Given the description of an element on the screen output the (x, y) to click on. 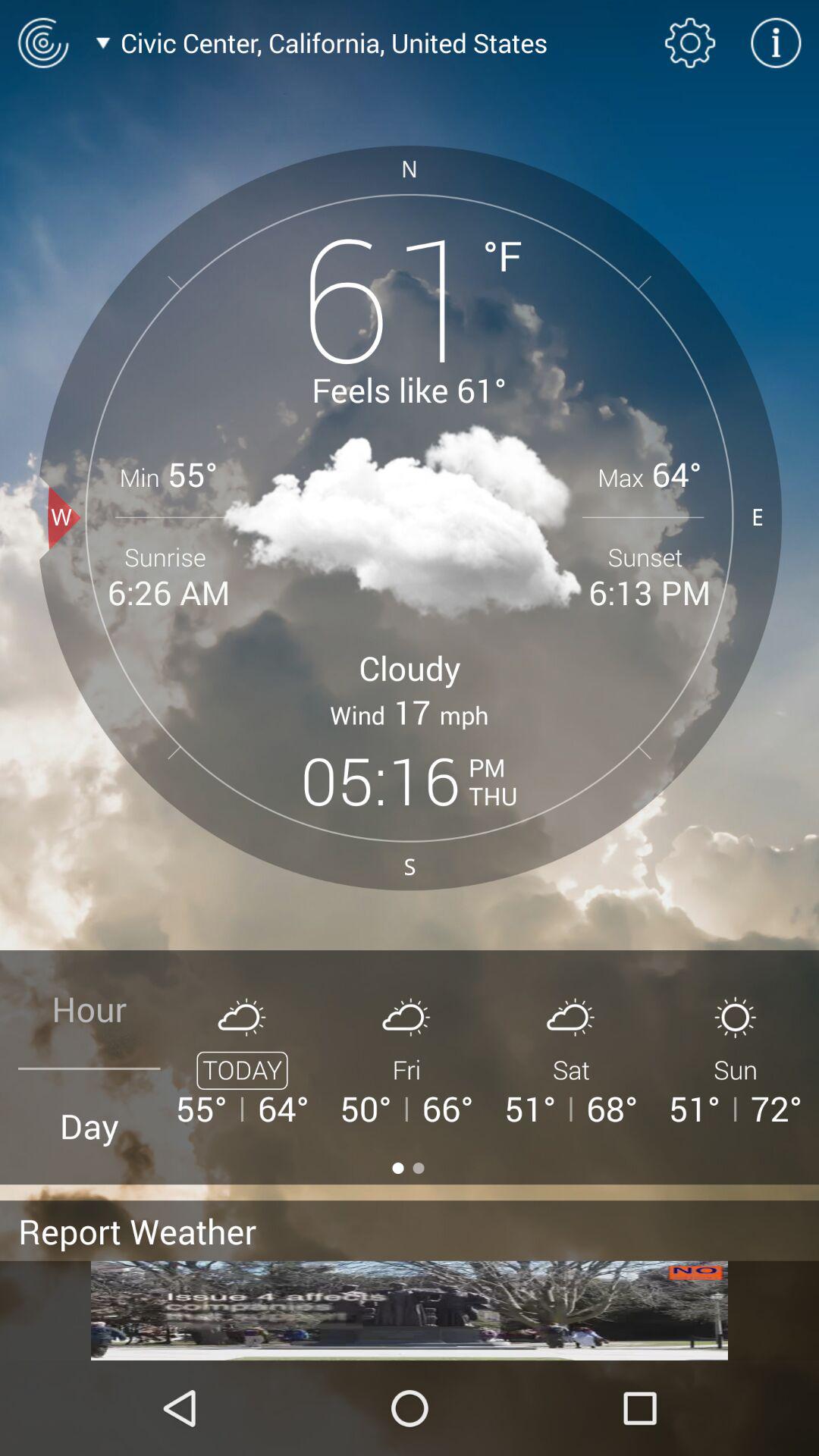
go to advertisement (409, 1310)
